Given the description of an element on the screen output the (x, y) to click on. 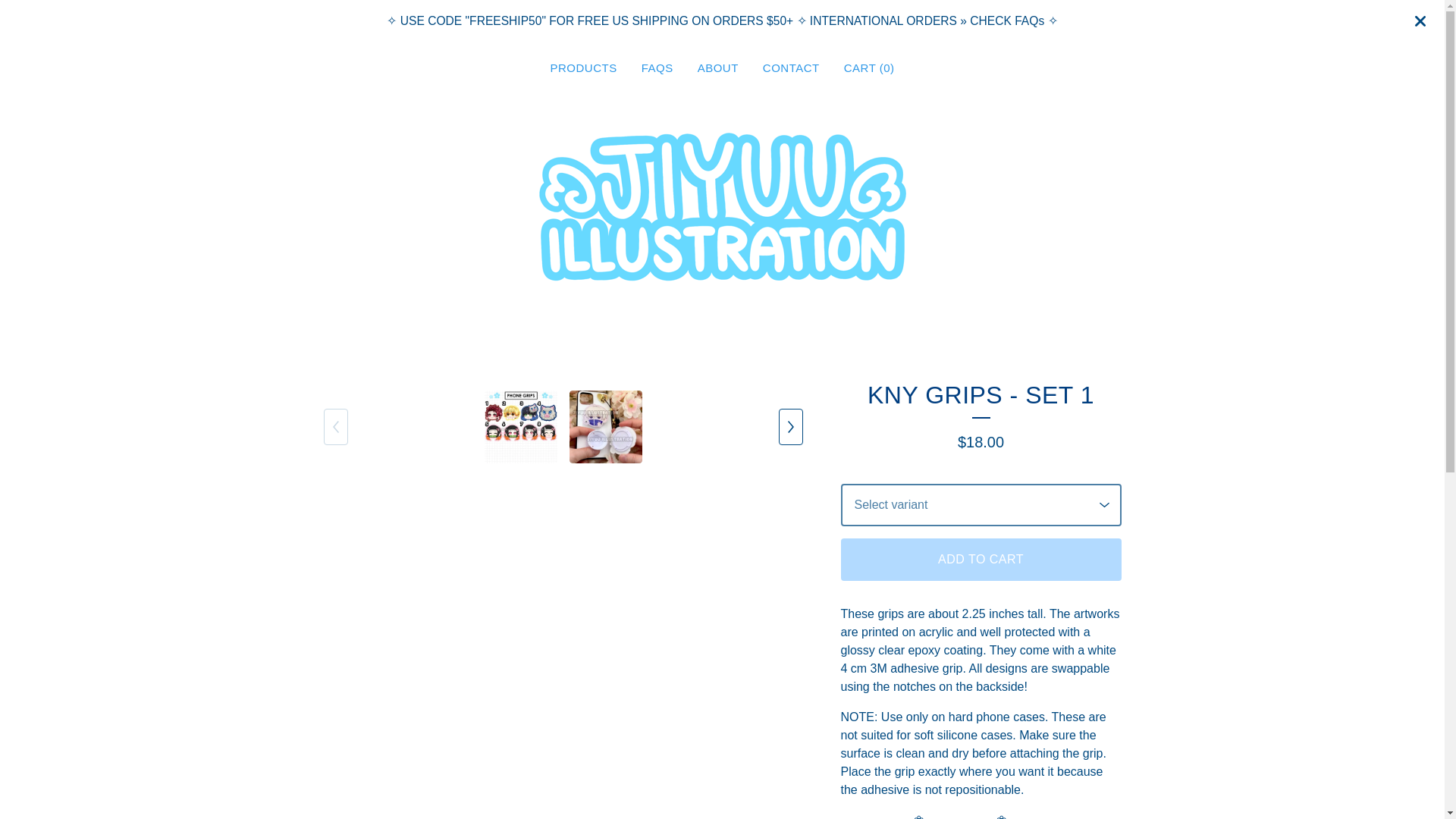
Home (722, 206)
FAQS (656, 68)
View About (717, 68)
View FAQs (656, 68)
ABOUT (717, 68)
PRODUCTS (583, 68)
Close announcement message (1419, 21)
ADD TO CART (980, 559)
CONTACT (791, 68)
